Given the description of an element on the screen output the (x, y) to click on. 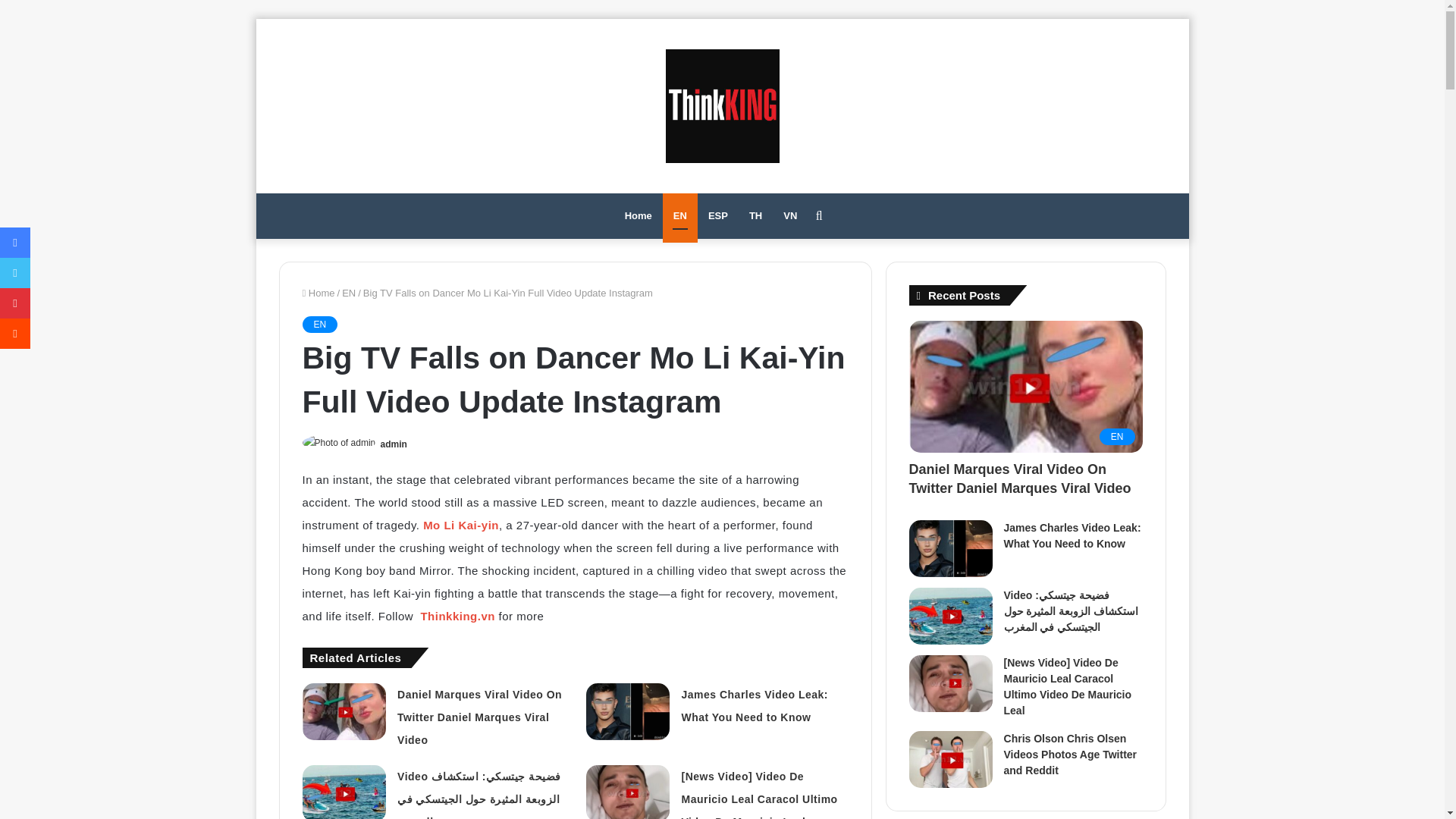
admin (393, 443)
thinkKING (721, 105)
Home (638, 216)
Pinterest (15, 303)
admin (393, 443)
Reddit (15, 333)
Mo Li Kai-yin (461, 524)
Twitter (15, 272)
EN (319, 324)
ESP (717, 216)
